Given the description of an element on the screen output the (x, y) to click on. 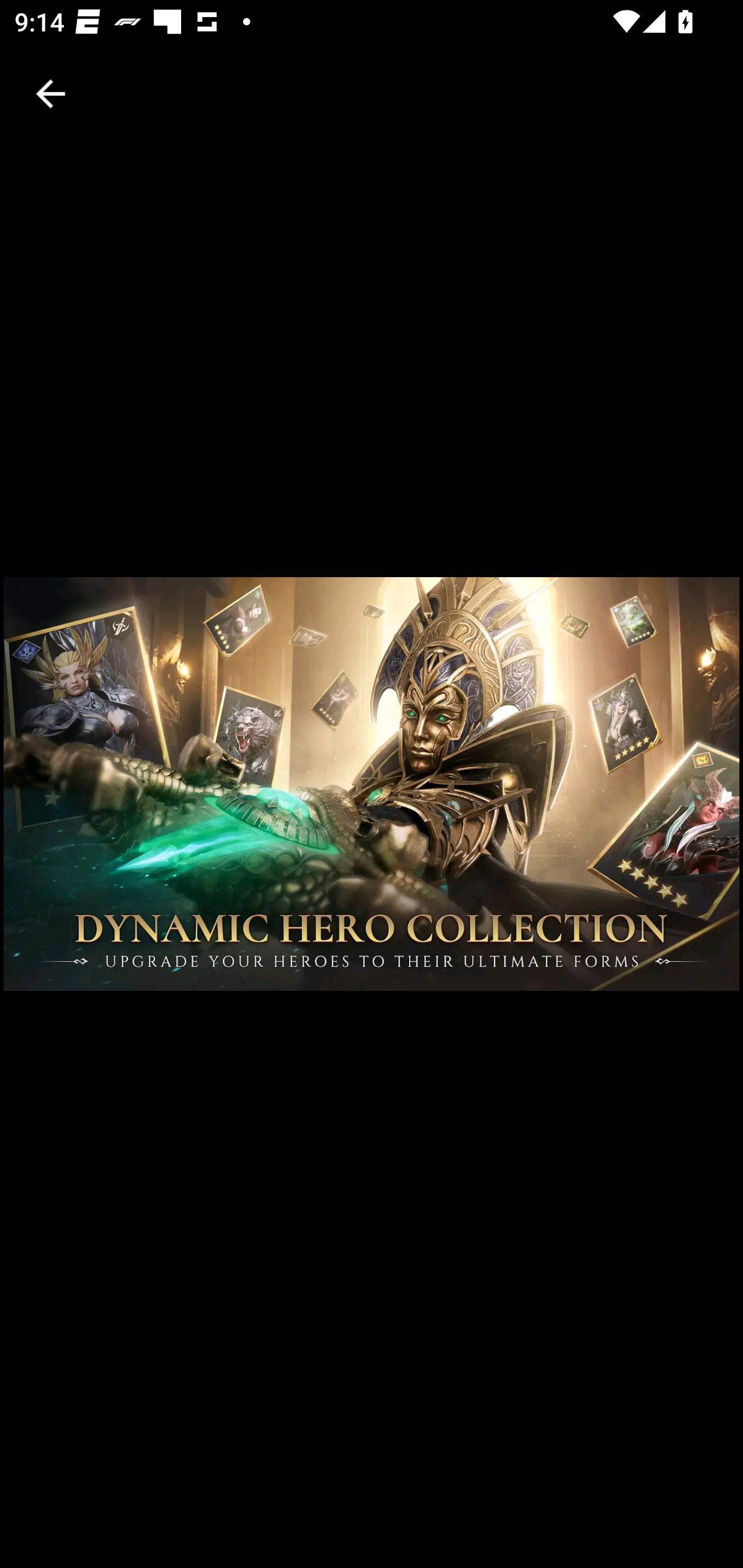
Back (50, 93)
